Given the description of an element on the screen output the (x, y) to click on. 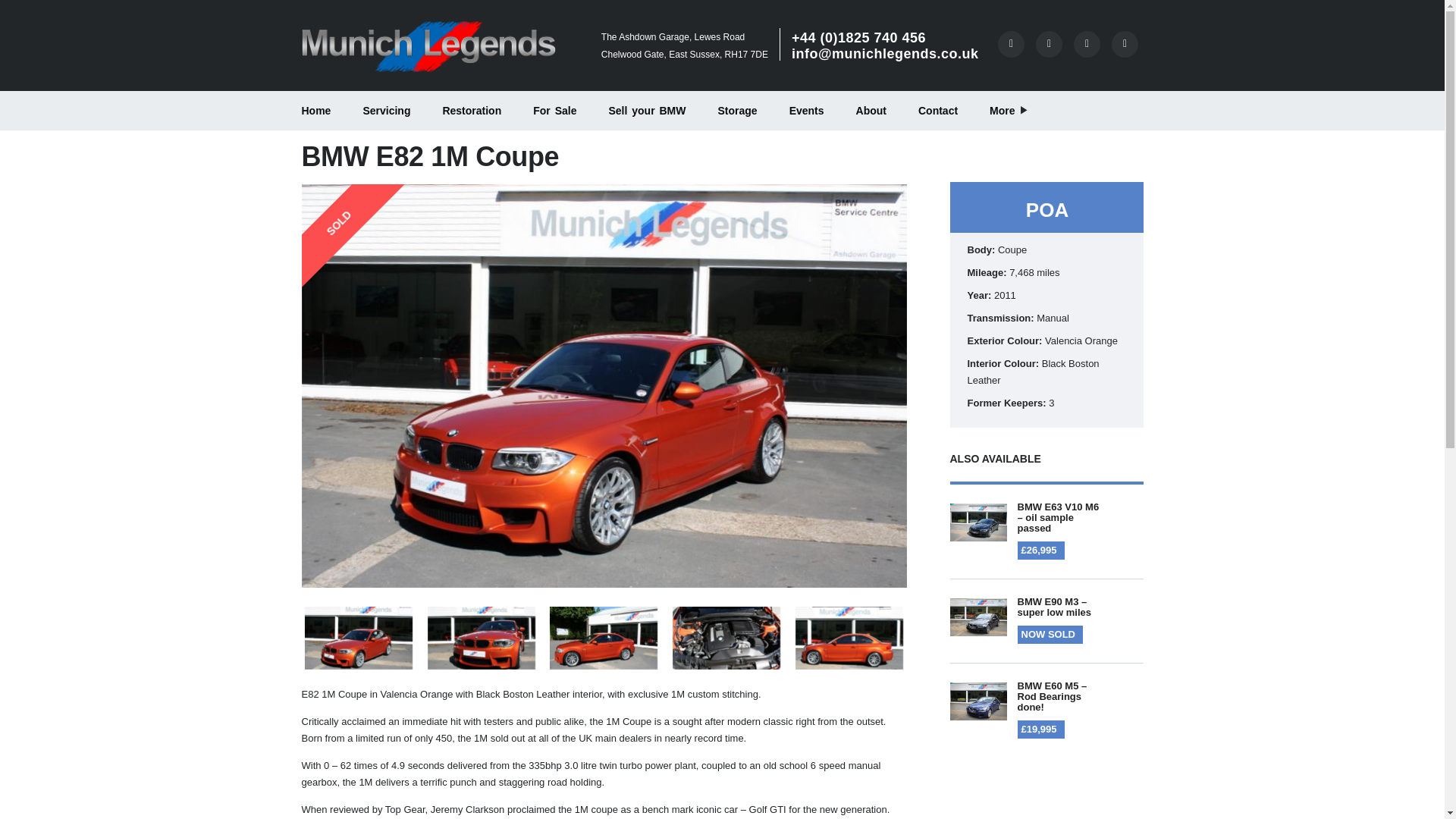
Restoration (471, 110)
Contact (938, 110)
Home (315, 110)
Sell your BMW (646, 110)
More (1005, 110)
Home (428, 46)
Servicing (386, 110)
Storage (737, 110)
About (871, 110)
Events (806, 110)
For Sale (554, 110)
